Given the description of an element on the screen output the (x, y) to click on. 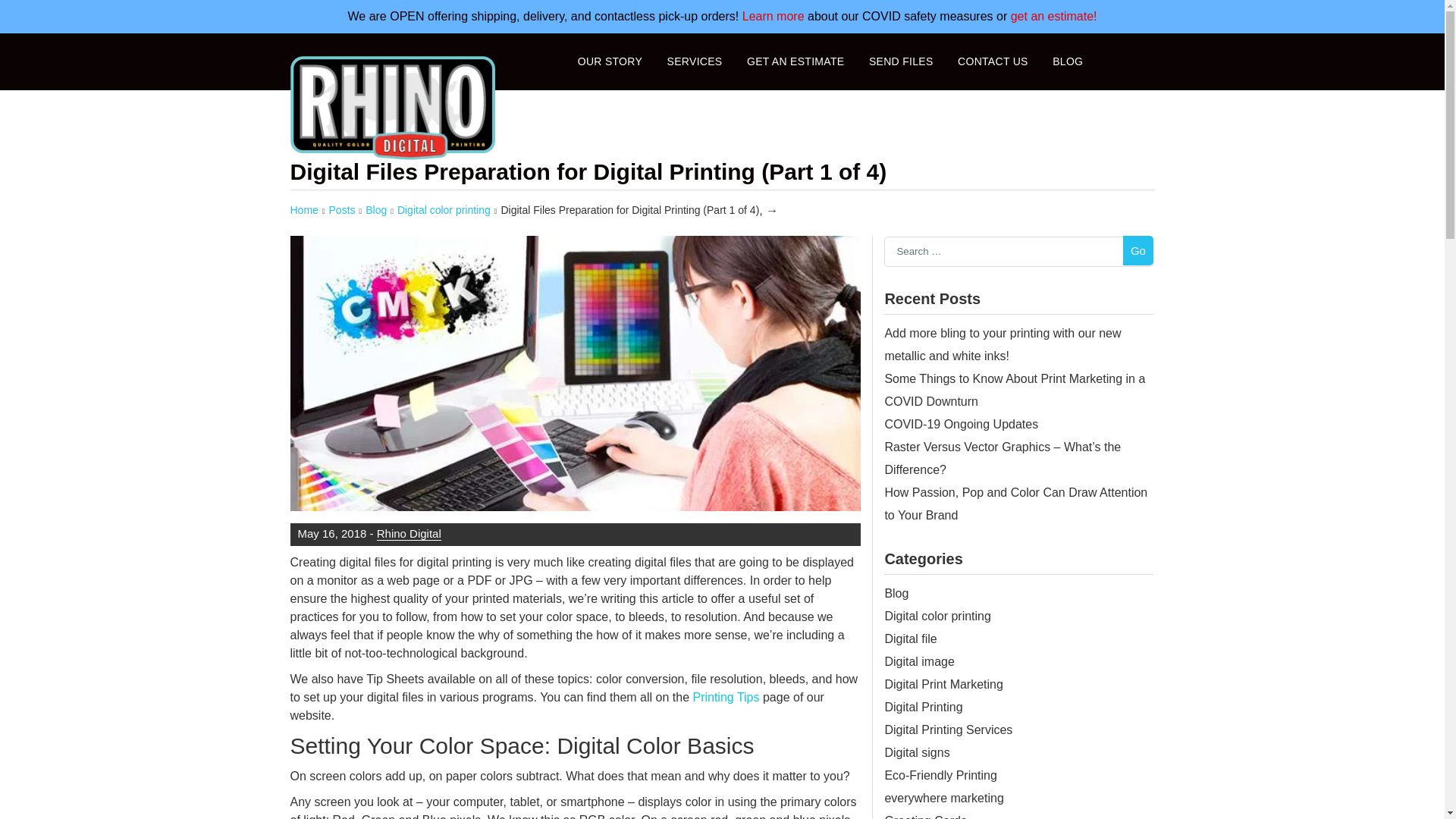
OUR STORY (609, 61)
Posts (342, 209)
get an estimate! (1053, 15)
BLOG (1067, 61)
Home (303, 209)
Digital color printing (443, 209)
SEND FILES (901, 61)
SERVICES (694, 61)
Printing Tips (725, 697)
Rhino Digital (409, 532)
Learn more (773, 15)
Blog (376, 209)
Home (303, 209)
CONTACT US (993, 61)
GET AN ESTIMATE (795, 61)
